Given the description of an element on the screen output the (x, y) to click on. 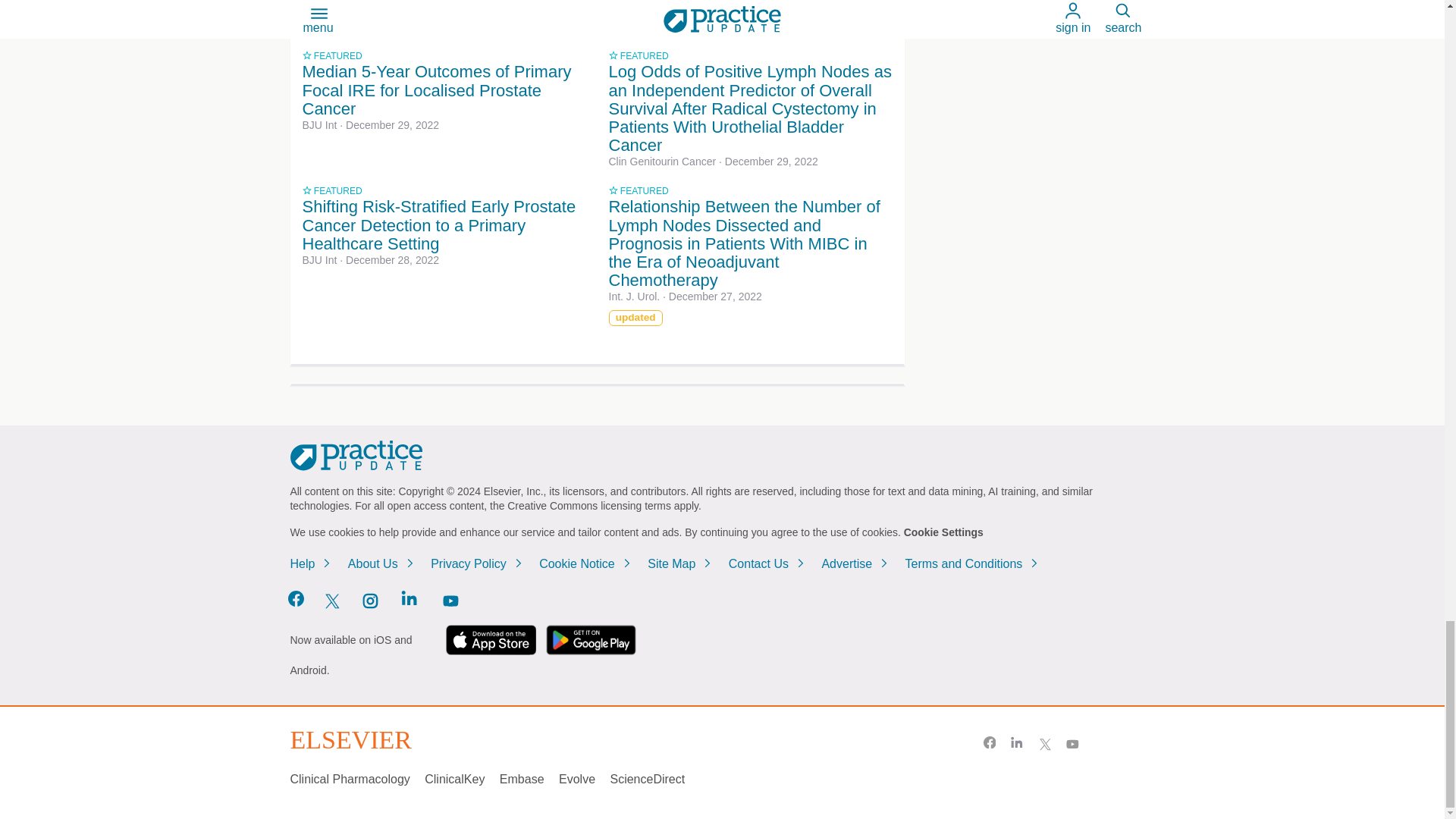
Download from play store (591, 639)
